Given the description of an element on the screen output the (x, y) to click on. 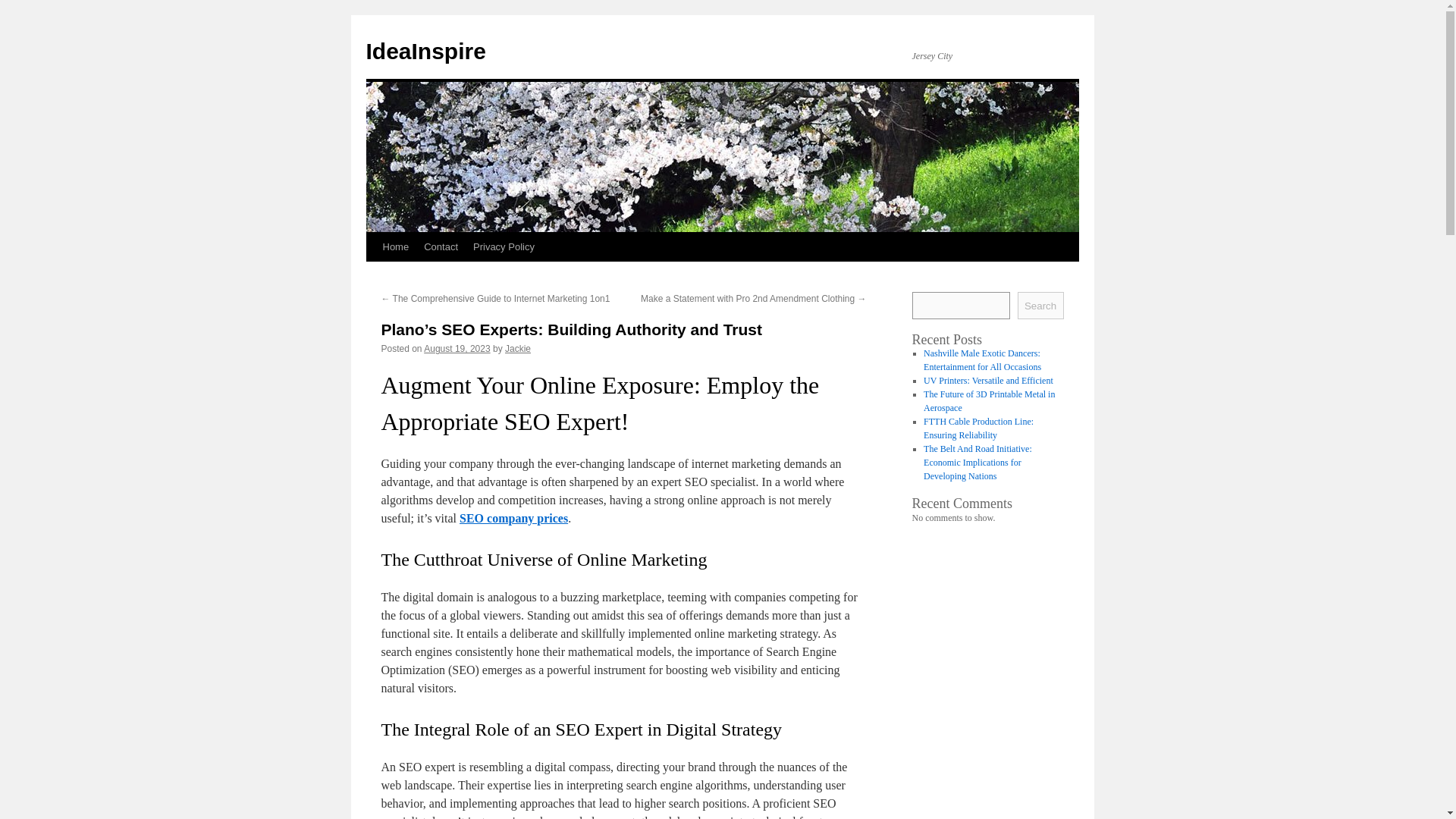
August 19, 2023 (456, 348)
SEO company prices (513, 517)
View all posts by Jackie (518, 348)
Jackie (518, 348)
UV Printers: Versatile and Efficient (987, 380)
Contact (440, 246)
FTTH Cable Production Line: Ensuring Reliability (978, 428)
Search (1040, 305)
Skip to content (372, 274)
Home (395, 246)
Privacy Policy (503, 246)
4:43 pm (456, 348)
IdeaInspire (424, 50)
